Given the description of an element on the screen output the (x, y) to click on. 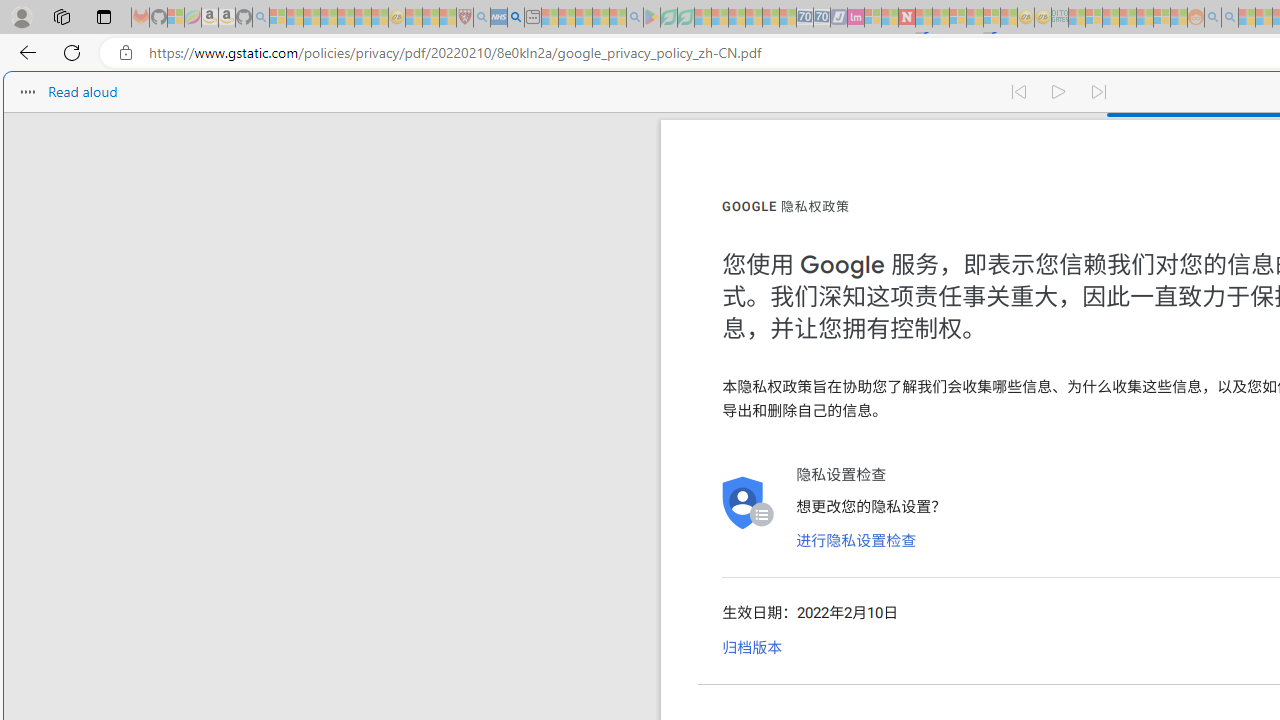
utah sues federal government - Search (515, 17)
